Given the description of an element on the screen output the (x, y) to click on. 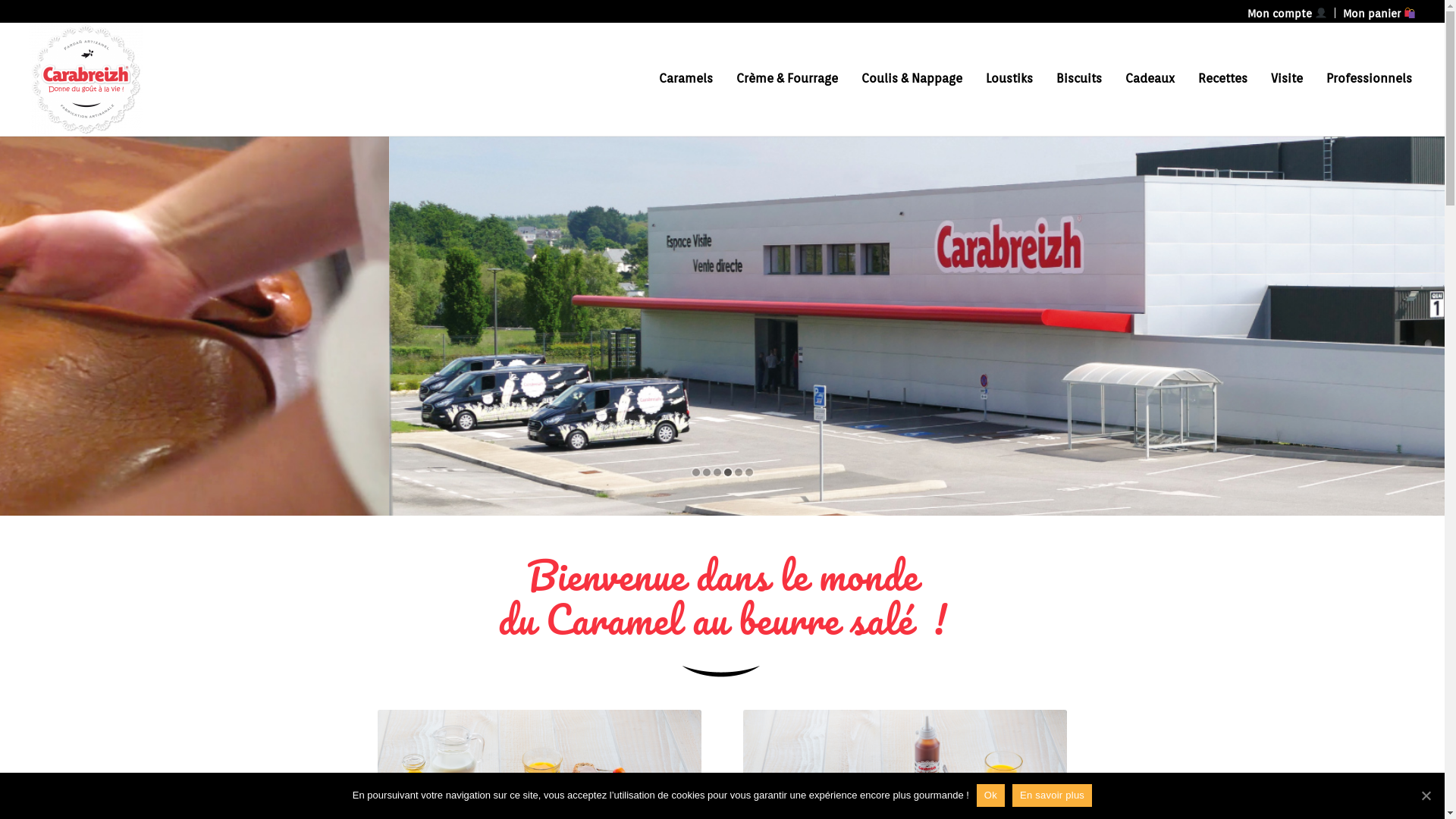
Coulis & Nappage Element type: text (911, 78)
Caramels Element type: text (685, 78)
Biscuits Element type: text (1078, 78)
Recettes Element type: text (1222, 78)
Visite Element type: text (1286, 78)
Ok Element type: text (990, 795)
Cadeaux Element type: text (1149, 78)
En savoir plus Element type: text (1052, 795)
Professionnels Element type: text (1364, 78)
Mon compte Element type: text (1287, 13)
Loustiks Element type: text (1008, 78)
Mon panier Element type: text (1379, 13)
